Given the description of an element on the screen output the (x, y) to click on. 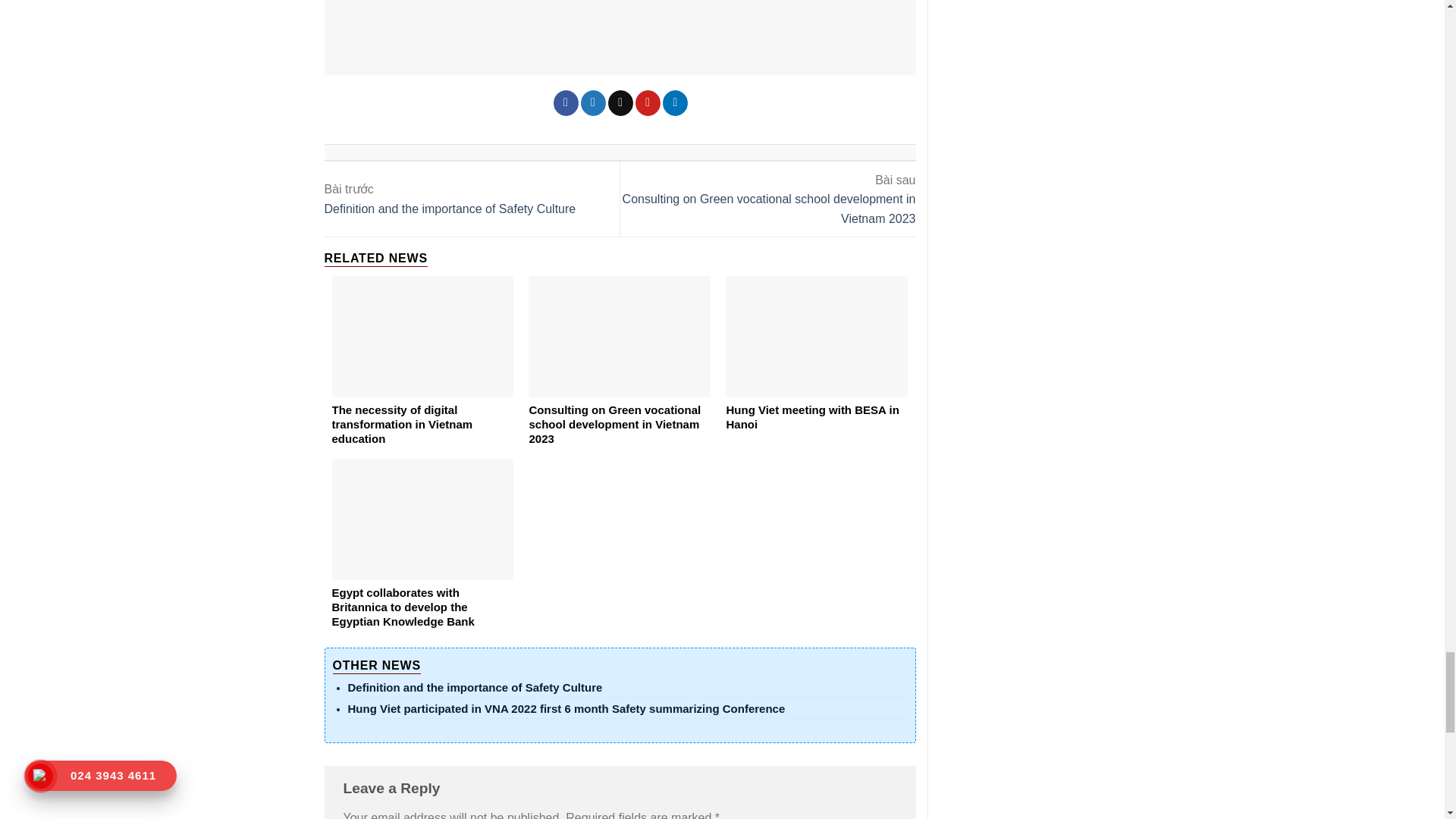
Email to a Friend (620, 103)
Share on Twitter (592, 103)
Share on Facebook (565, 103)
Share on LinkedIn (674, 103)
Pin on Pinterest (647, 103)
